Given the description of an element on the screen output the (x, y) to click on. 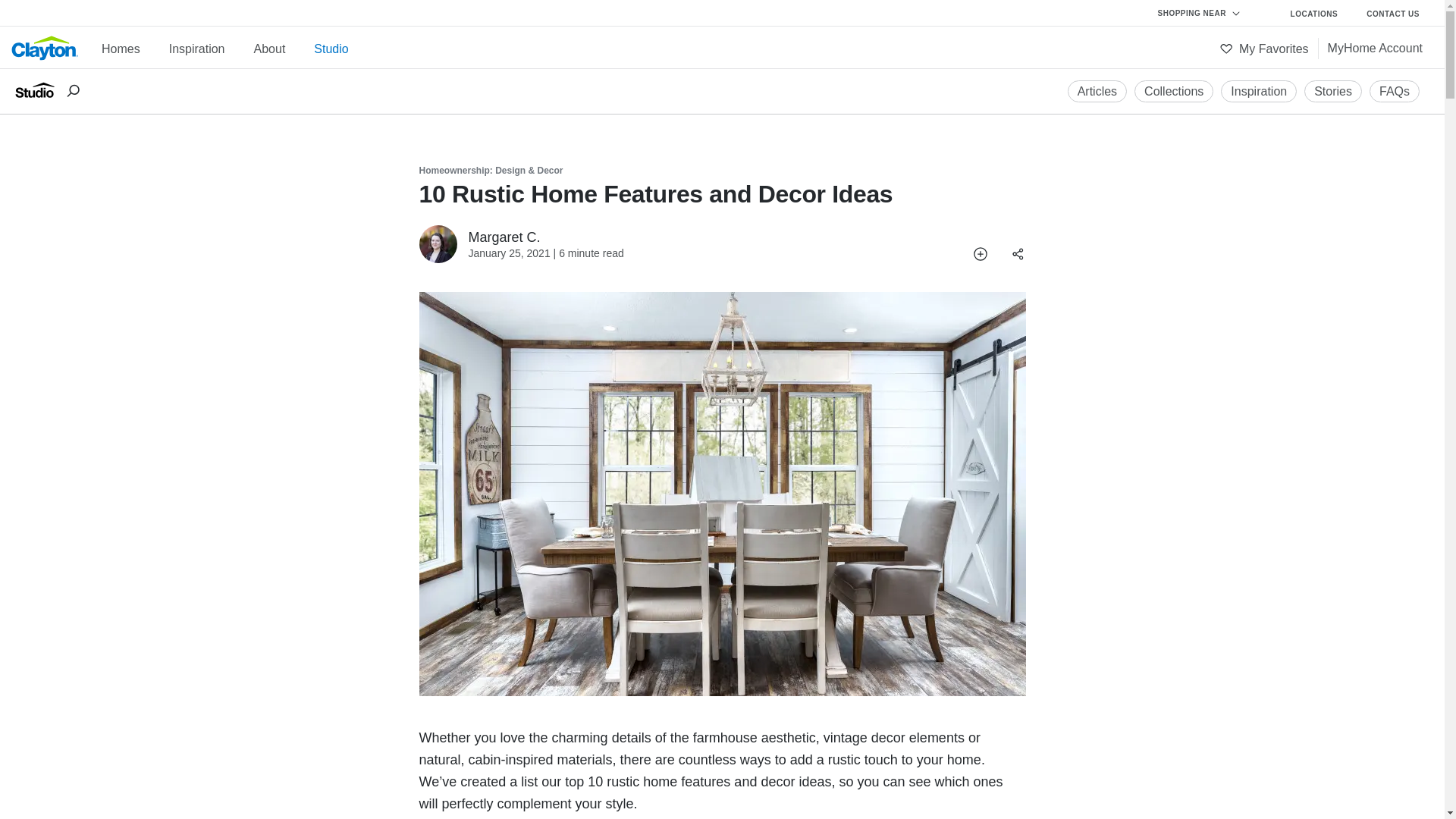
LOCATIONS (1314, 13)
Homes (120, 48)
Stories (1332, 91)
Articles (1096, 91)
Inspiration (1259, 91)
SHOPPING NEAR (1206, 14)
MyHome Account (1374, 48)
Stories (1332, 91)
Inspiration (1259, 91)
